Given the description of an element on the screen output the (x, y) to click on. 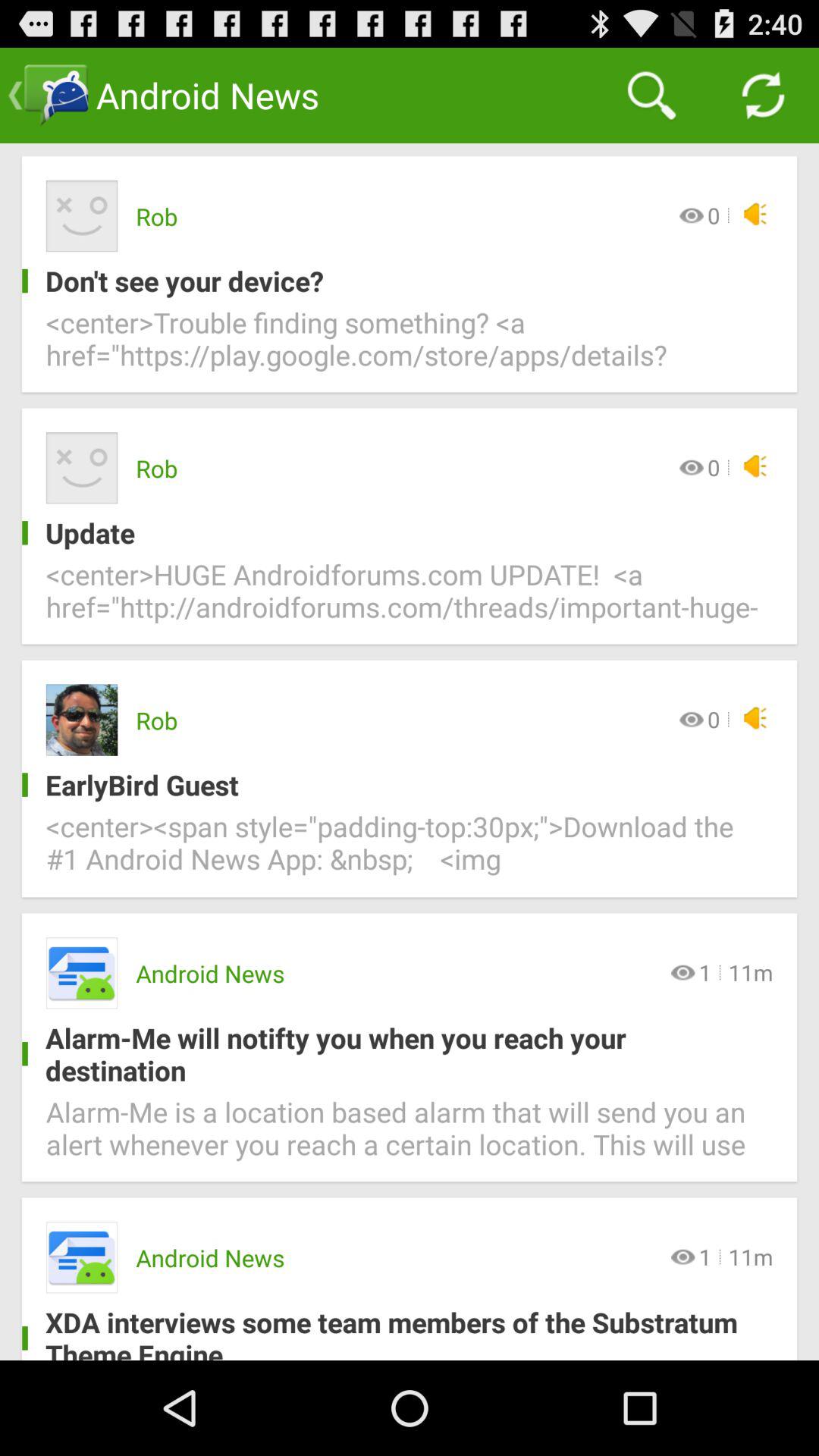
flip until don t see (397, 280)
